Given the description of an element on the screen output the (x, y) to click on. 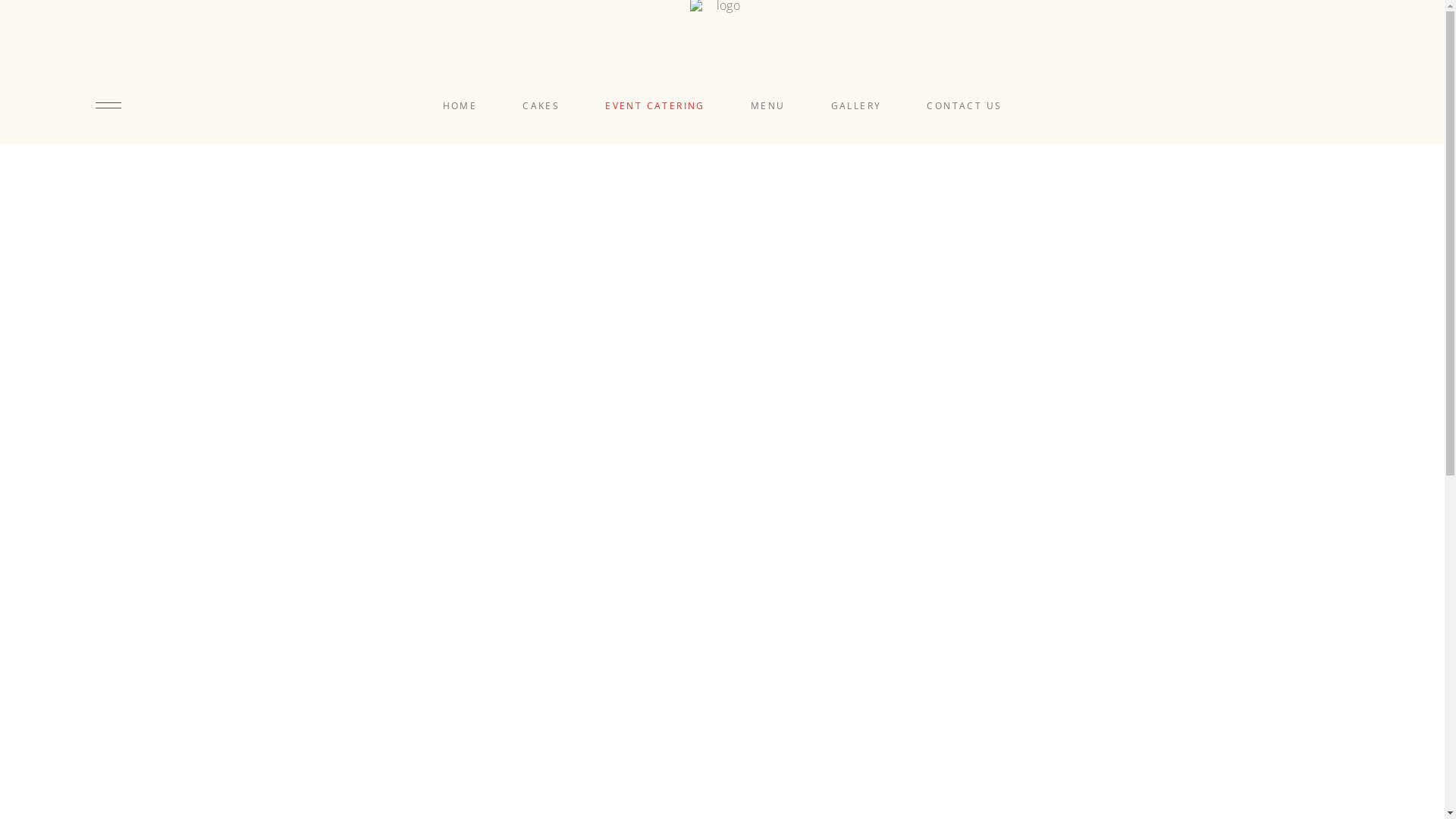
GALLERY Element type: text (856, 106)
HOME Element type: text (460, 106)
MENU Element type: text (768, 106)
CAKES Element type: text (540, 106)
EVENT CATERING Element type: text (655, 106)
CONTACT US Element type: text (963, 106)
